Given the description of an element on the screen output the (x, y) to click on. 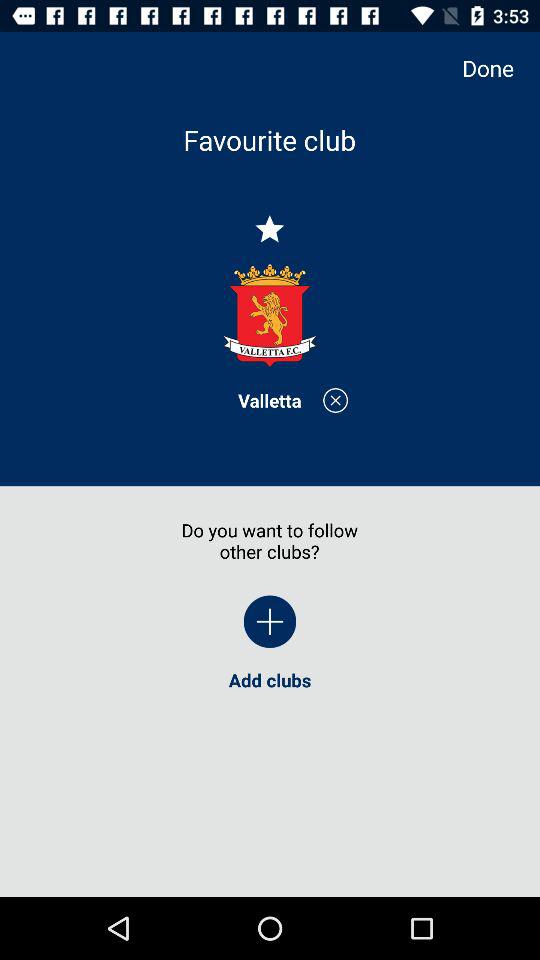
press the item above the add clubs item (269, 621)
